Given the description of an element on the screen output the (x, y) to click on. 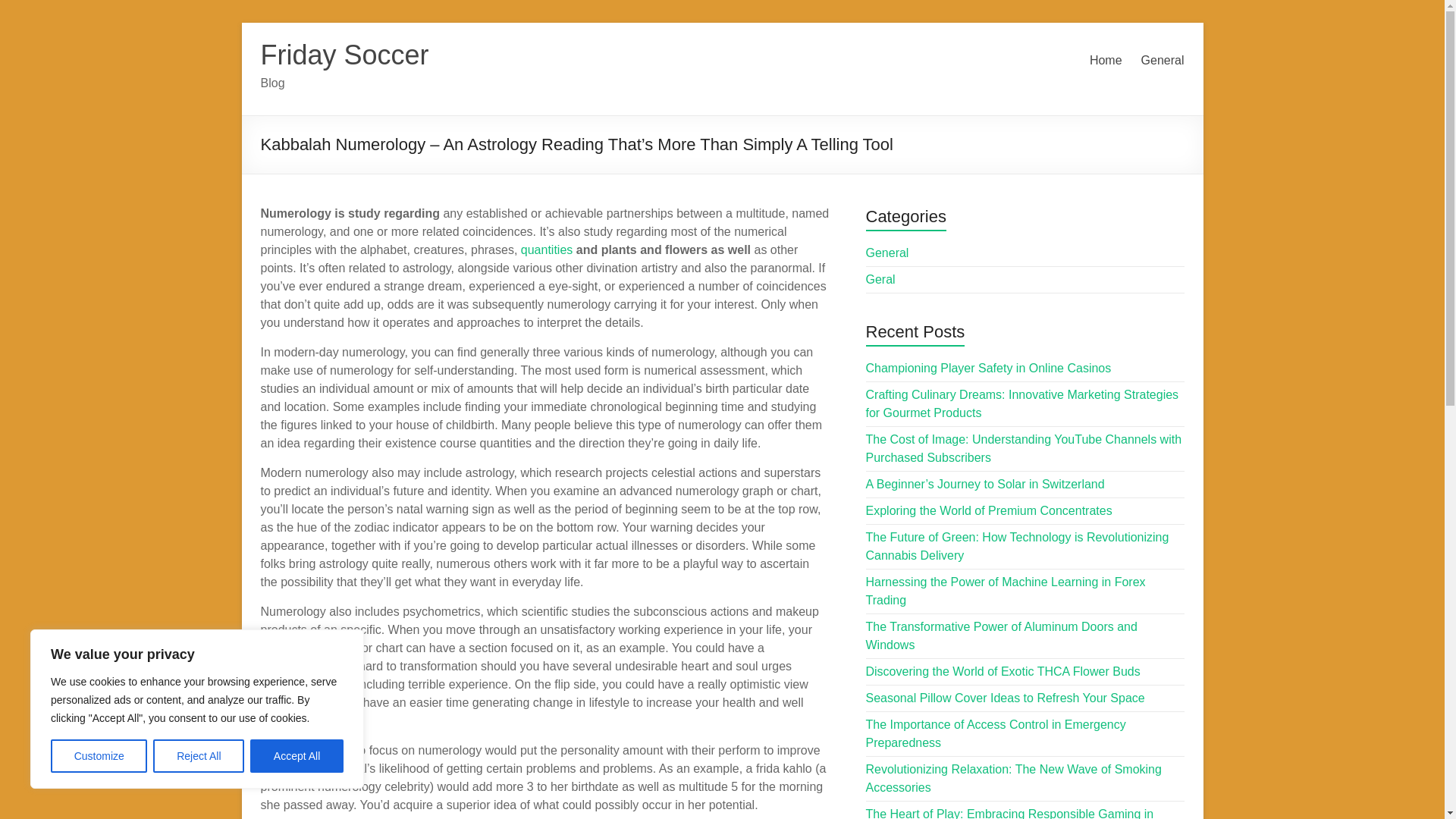
Geral (880, 278)
General (887, 252)
Reject All (198, 756)
Championing Player Safety in Online Casinos (989, 367)
quantities (547, 249)
Friday Soccer (344, 54)
Exploring the World of Premium Concentrates (989, 510)
Customize (98, 756)
